Given the description of an element on the screen output the (x, y) to click on. 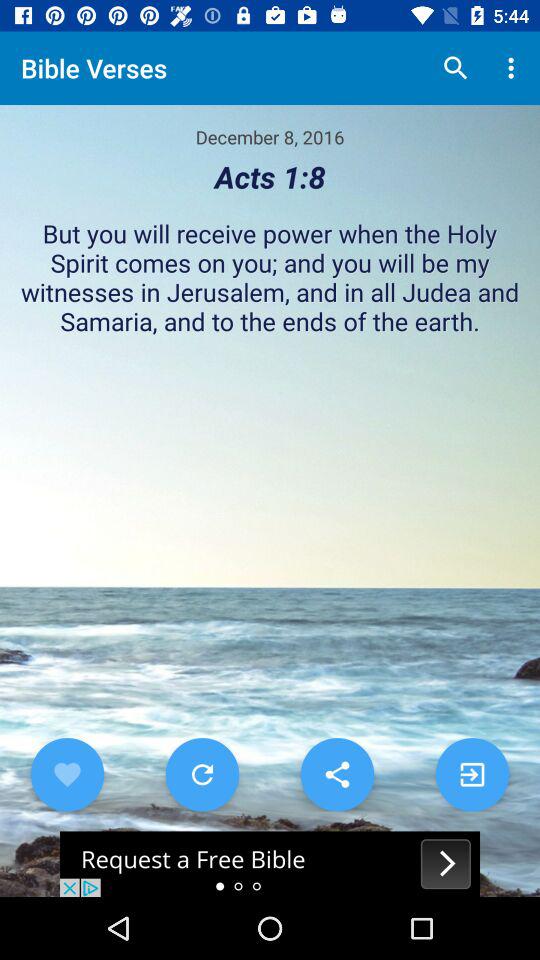
select to like (67, 774)
